Given the description of an element on the screen output the (x, y) to click on. 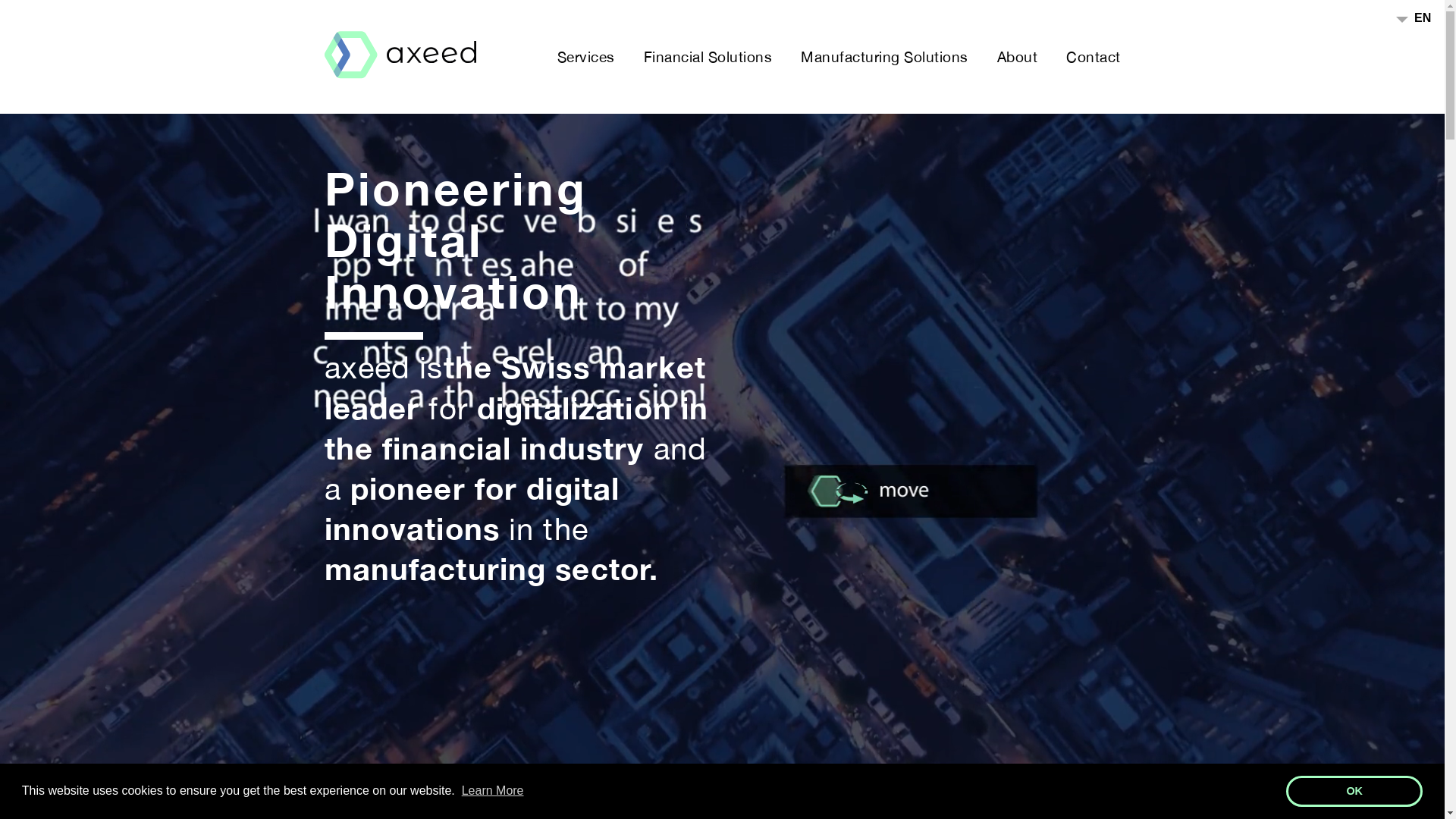
Financial Solutions Element type: text (707, 56)
Learn More Element type: text (492, 790)
OK Element type: text (1354, 790)
Services Element type: text (585, 56)
About Element type: text (1016, 56)
EN Element type: text (1413, 18)
Manufacturing Solutions Element type: text (884, 56)
Contact Element type: text (1093, 56)
